Given the description of an element on the screen output the (x, y) to click on. 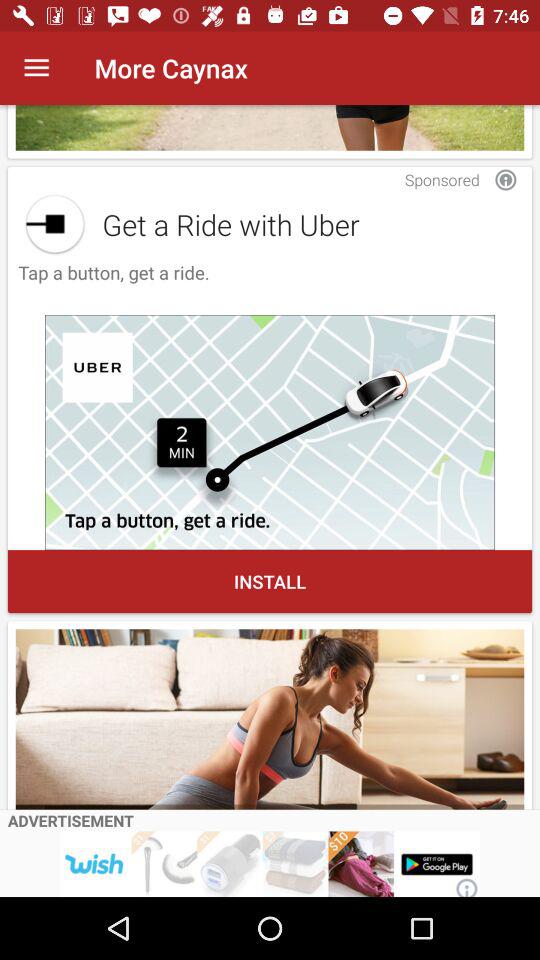
sponsored (505, 179)
